Given the description of an element on the screen output the (x, y) to click on. 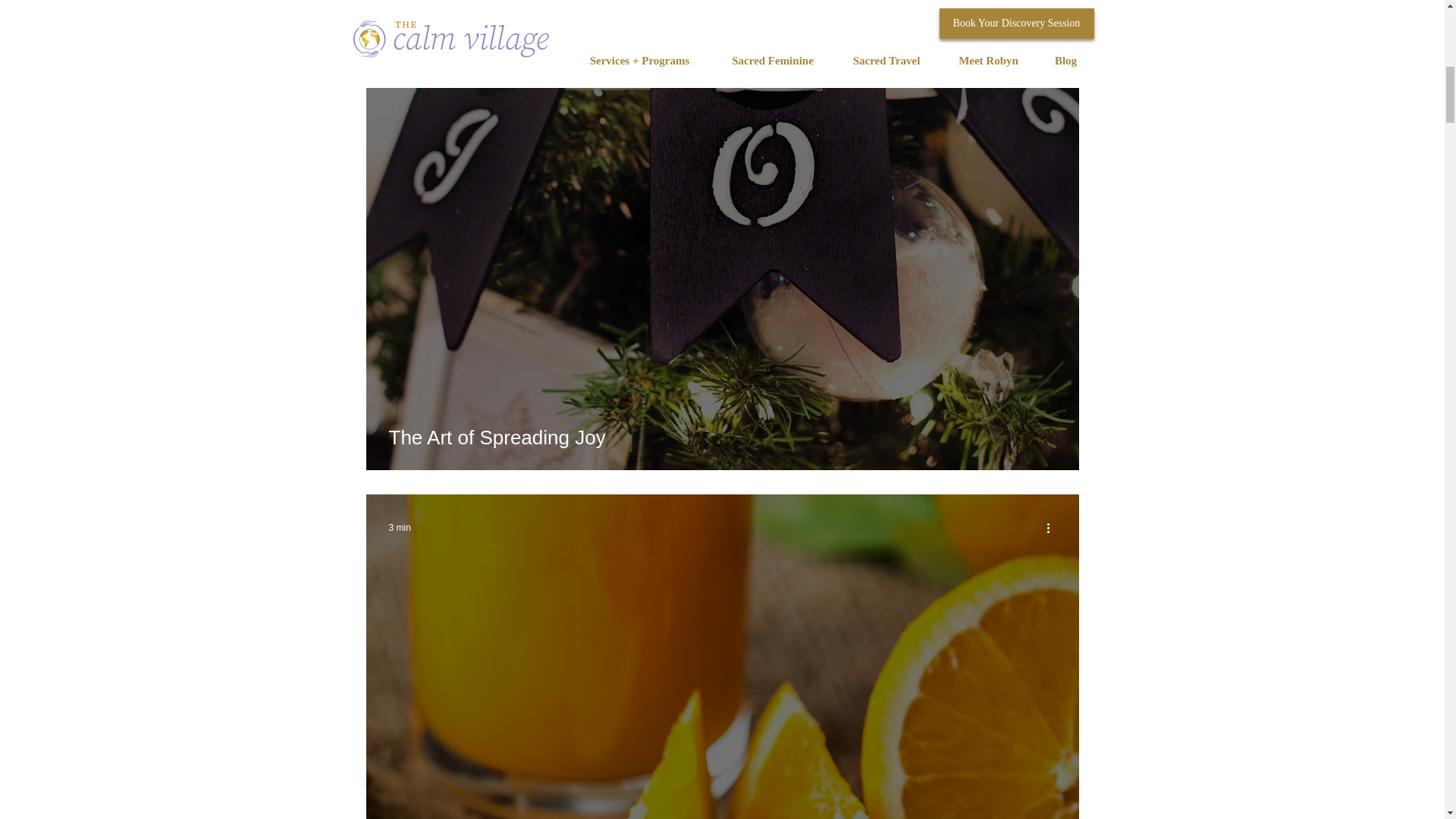
The Art of Spreading Joy (721, 437)
3 min (399, 527)
